Given the description of an element on the screen output the (x, y) to click on. 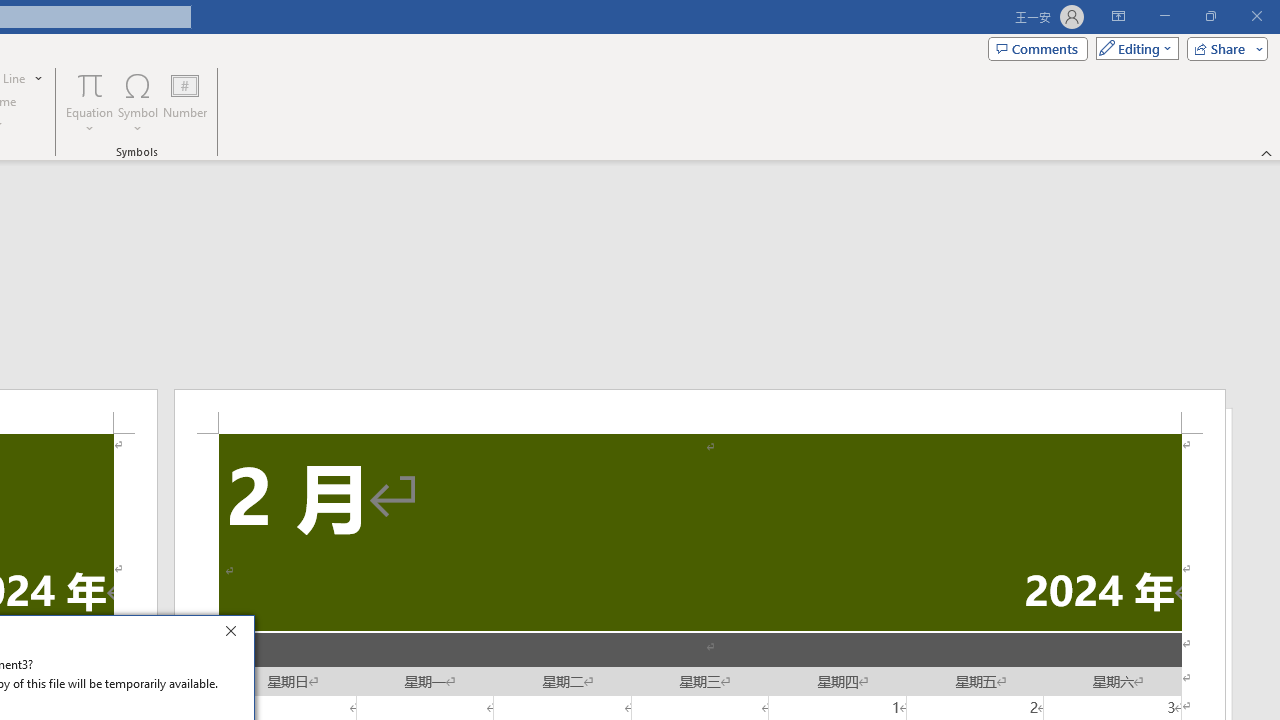
Header -Section 2- (700, 411)
Number... (185, 102)
Symbol (138, 102)
